Given the description of an element on the screen output the (x, y) to click on. 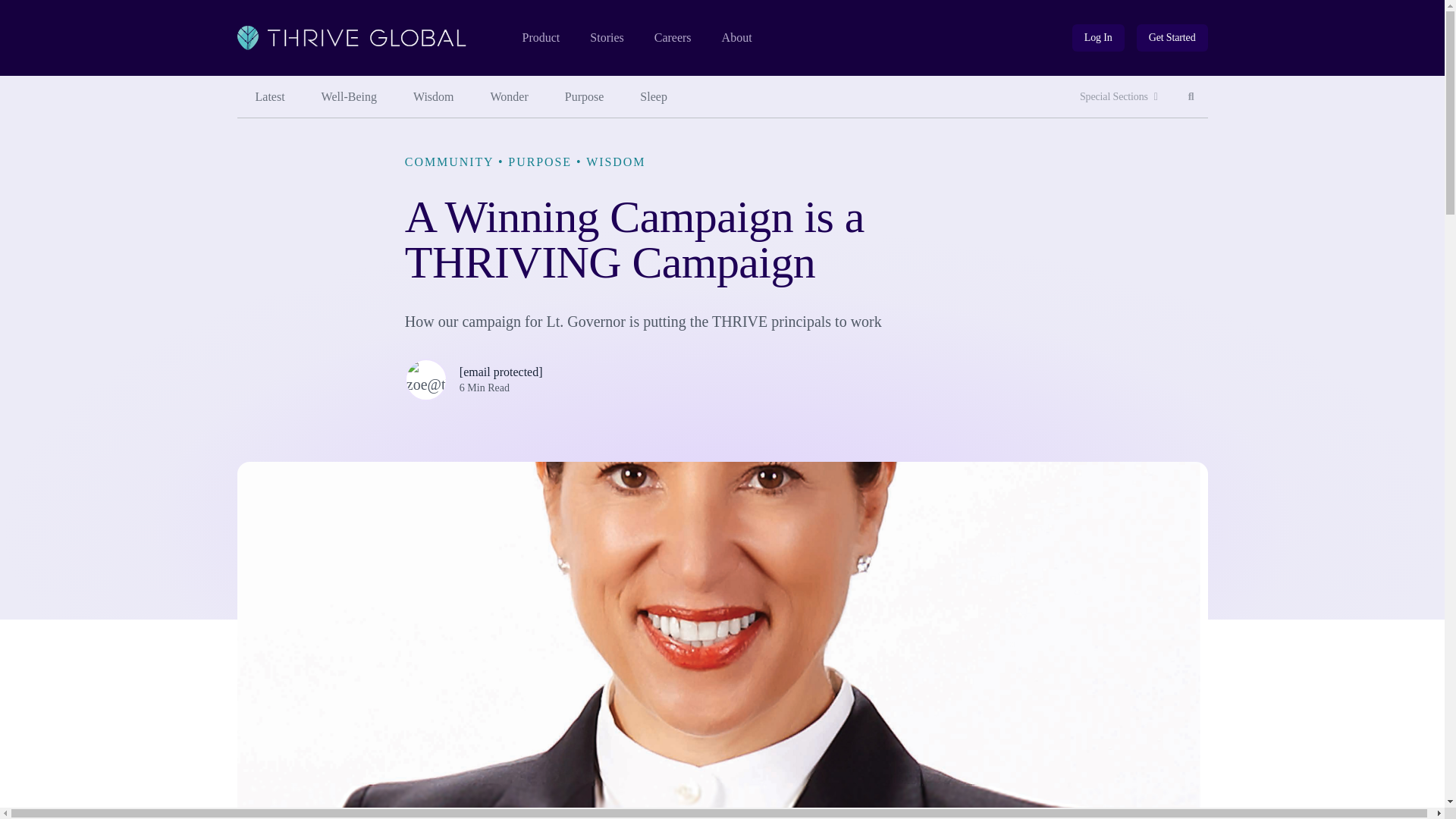
Product (540, 37)
Stories (606, 37)
Latest (1191, 97)
Purpose (268, 96)
Sleep (585, 96)
Special Sections (653, 96)
Log In (1118, 97)
btn-info (1097, 37)
Wisdom (1097, 37)
